Given the description of an element on the screen output the (x, y) to click on. 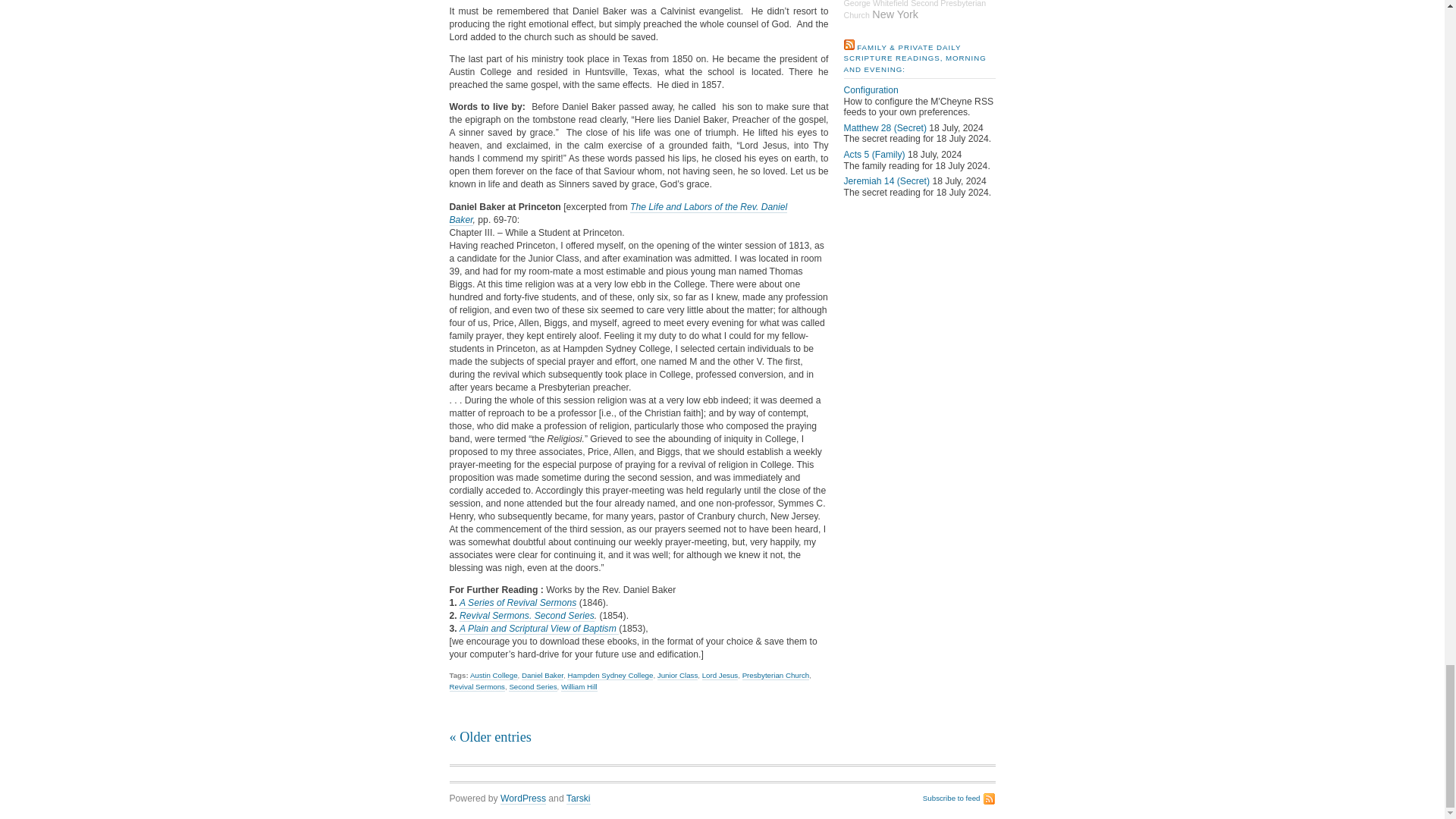
The Life and Labors of the Rev. Daniel Baker. (617, 213)
